Given the description of an element on the screen output the (x, y) to click on. 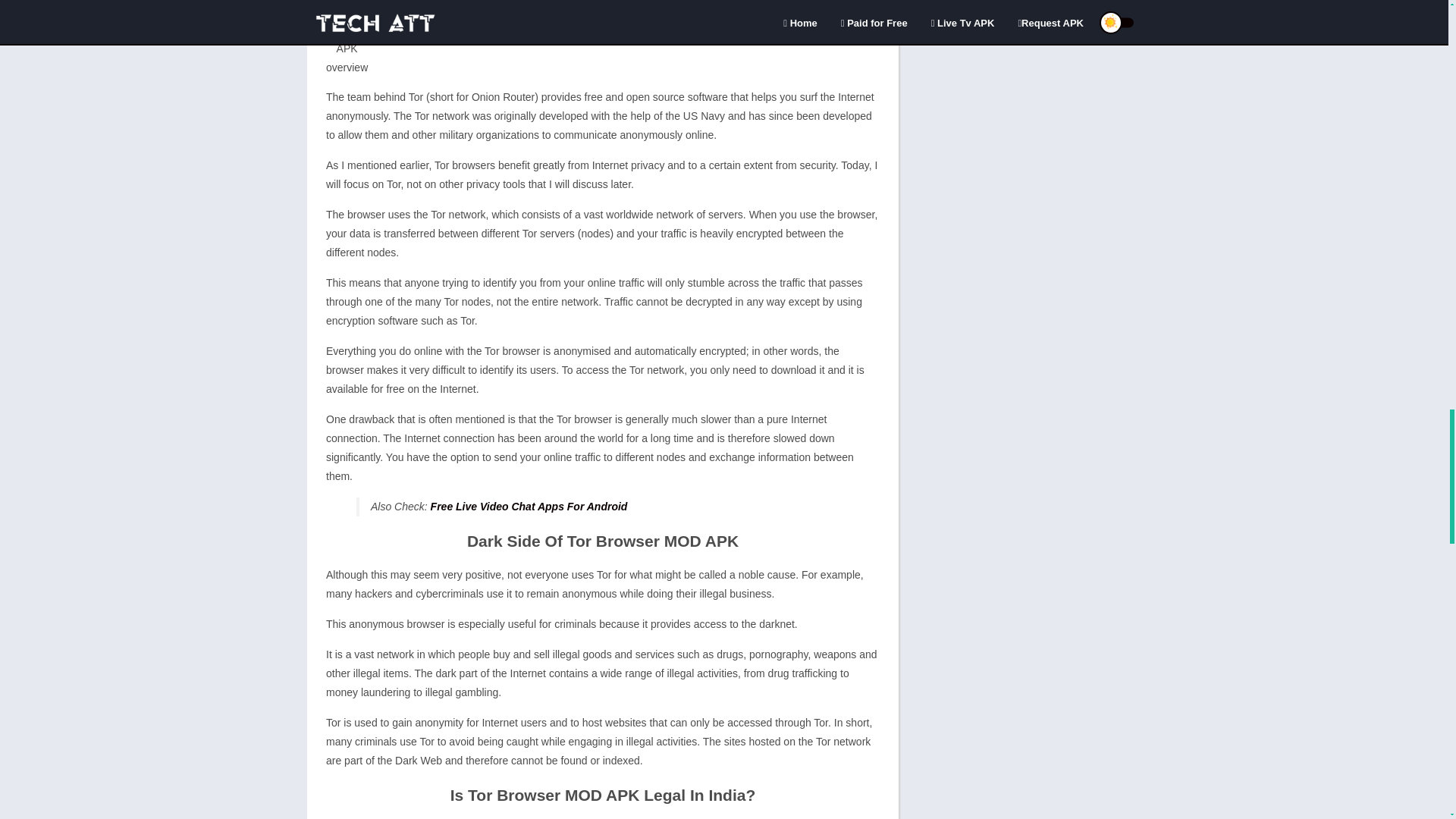
Free Live Video Chat Apps For Android (528, 506)
